Given the description of an element on the screen output the (x, y) to click on. 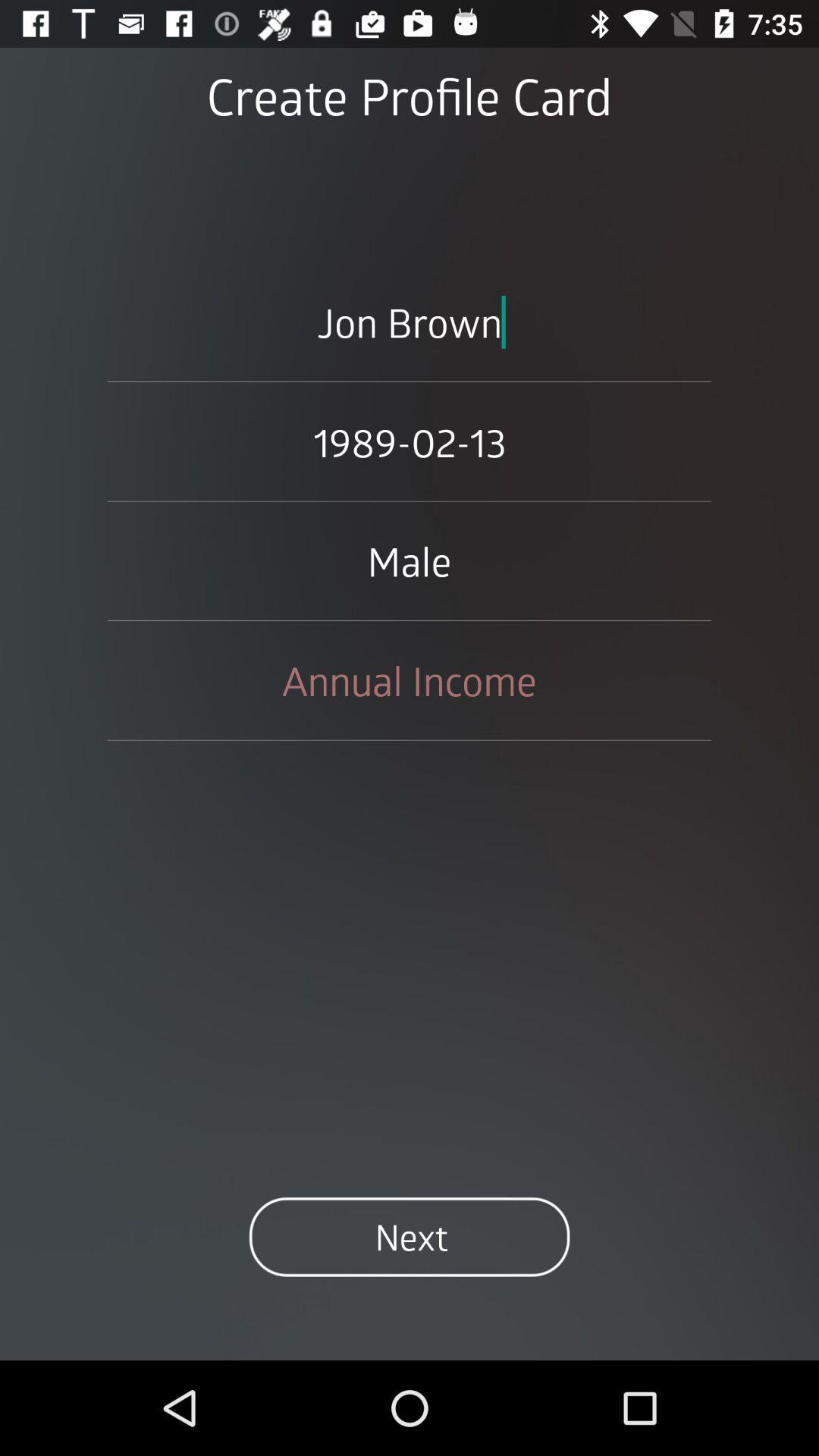
enter number (409, 680)
